Given the description of an element on the screen output the (x, y) to click on. 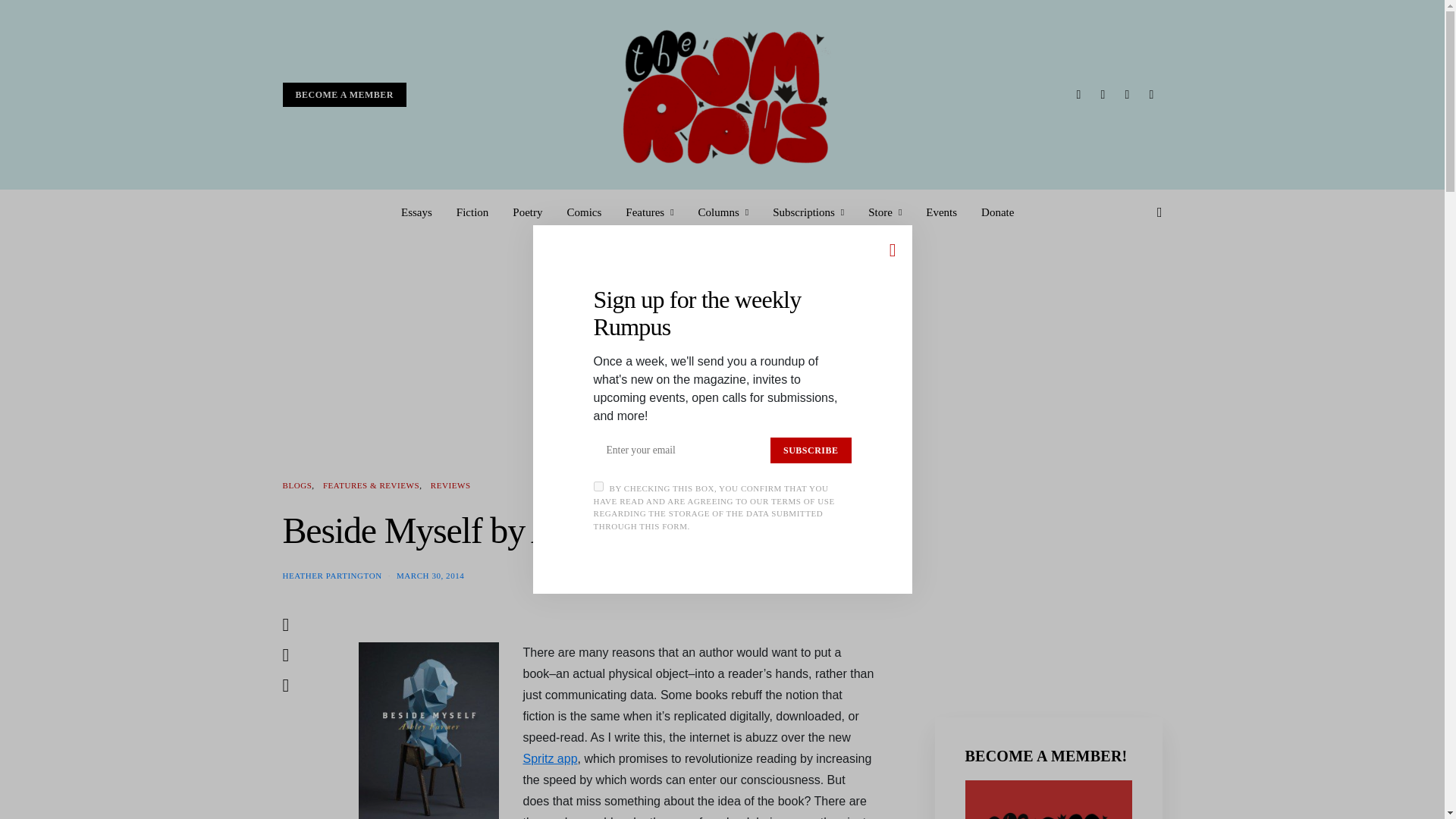
BECOME A MEMBER (344, 94)
on (597, 486)
3rd party ad content (1047, 574)
View all posts by Heather Partington (331, 574)
